Given the description of an element on the screen output the (x, y) to click on. 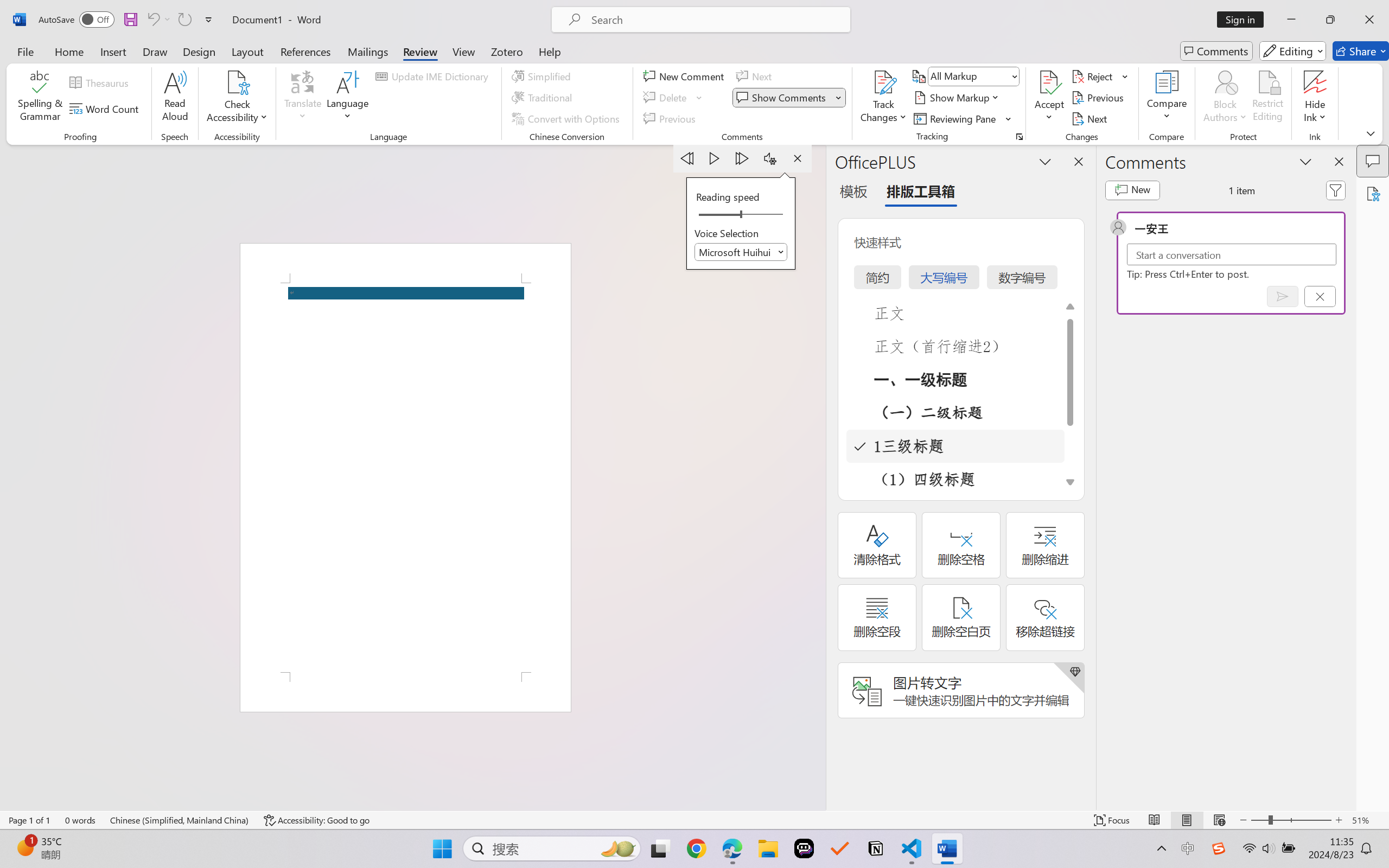
Reviewing Pane (962, 118)
Check Accessibility (237, 97)
Voice Selection (740, 252)
Word Count (105, 108)
Settings (770, 158)
Check Accessibility (237, 81)
Accept and Move to Next (1049, 81)
